Given the description of an element on the screen output the (x, y) to click on. 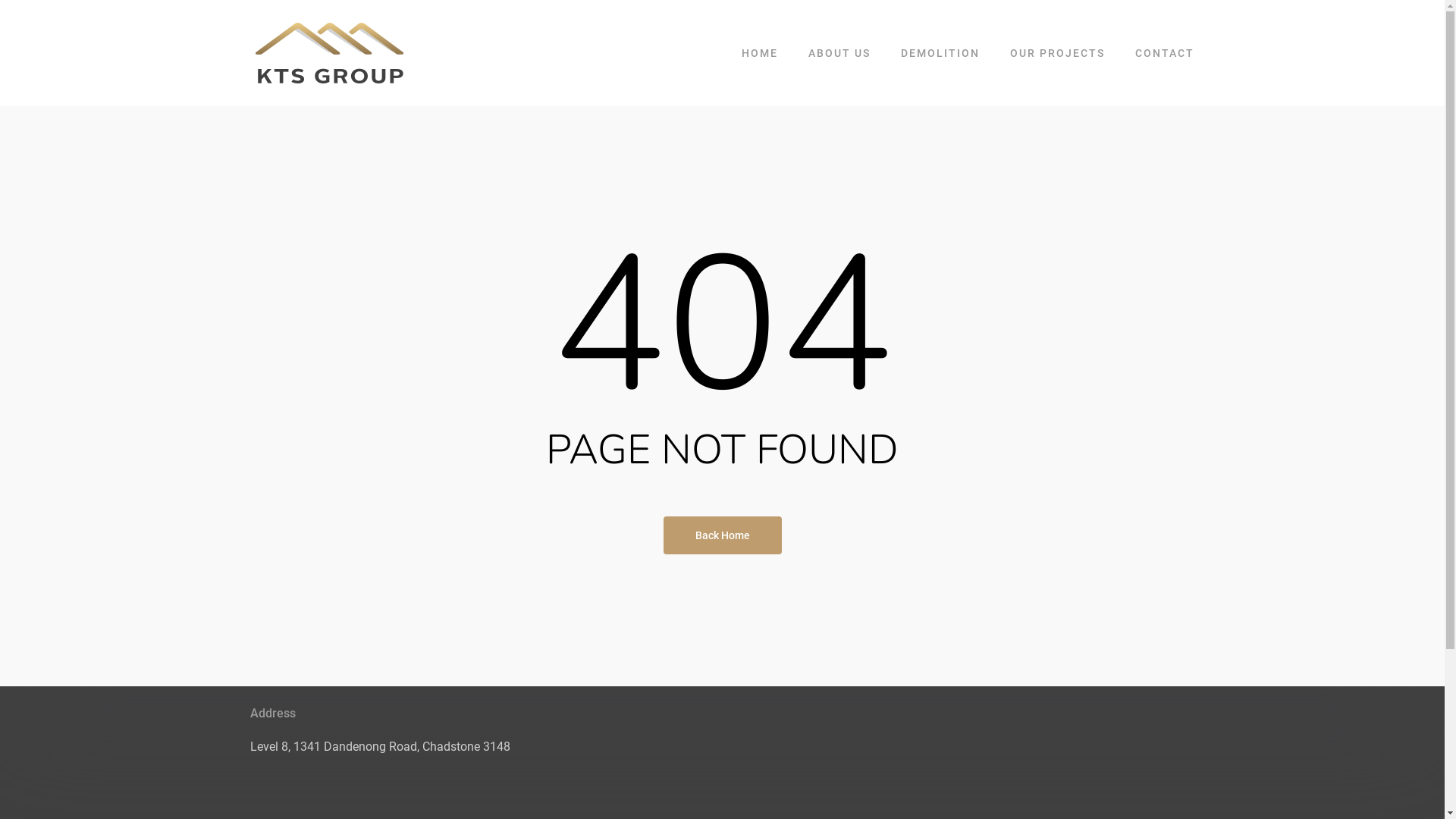
OUR PROJECTS Element type: text (1057, 52)
ABOUT US Element type: text (839, 52)
HOME Element type: text (759, 52)
CONTACT Element type: text (1164, 52)
Back Home Element type: text (721, 534)
DEMOLITION Element type: text (939, 52)
Privacy Policy Element type: text (636, 554)
